Given the description of an element on the screen output the (x, y) to click on. 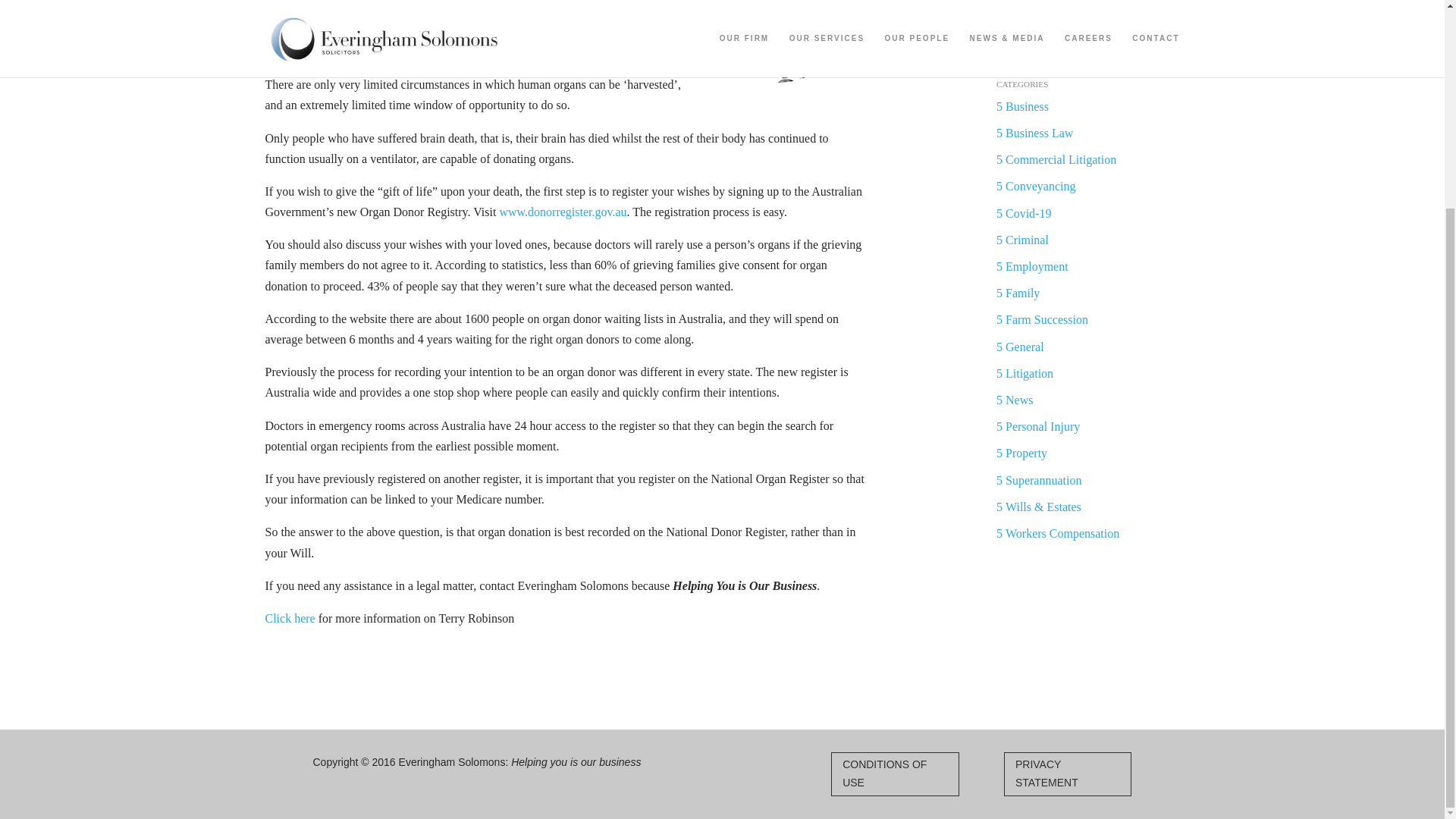
www.donorregister.gov.au (562, 211)
Click here (289, 617)
